Given the description of an element on the screen output the (x, y) to click on. 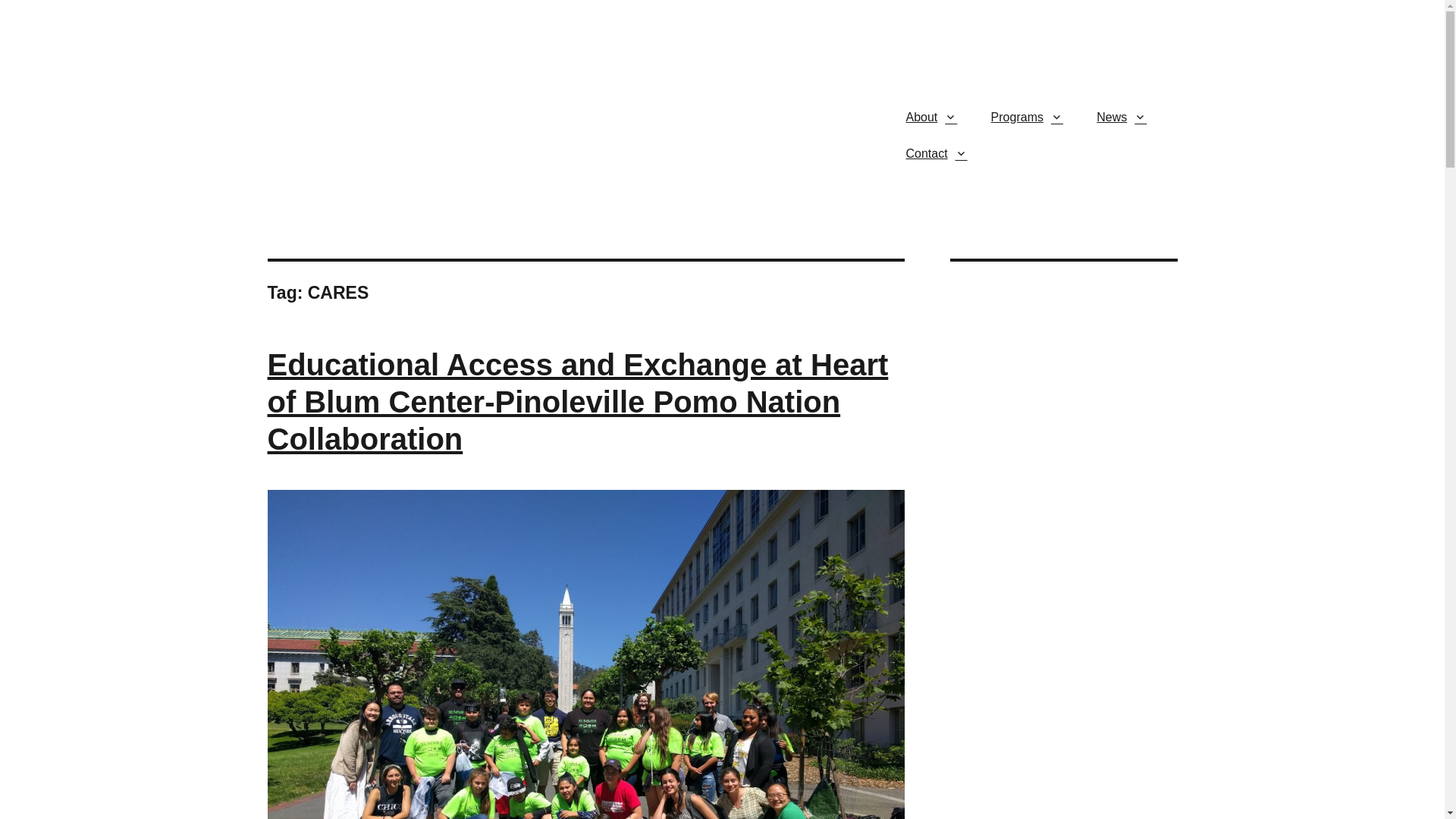
Blum Center (329, 114)
About (929, 117)
Contact (934, 153)
Programs (1024, 117)
News (1120, 117)
